Given the description of an element on the screen output the (x, y) to click on. 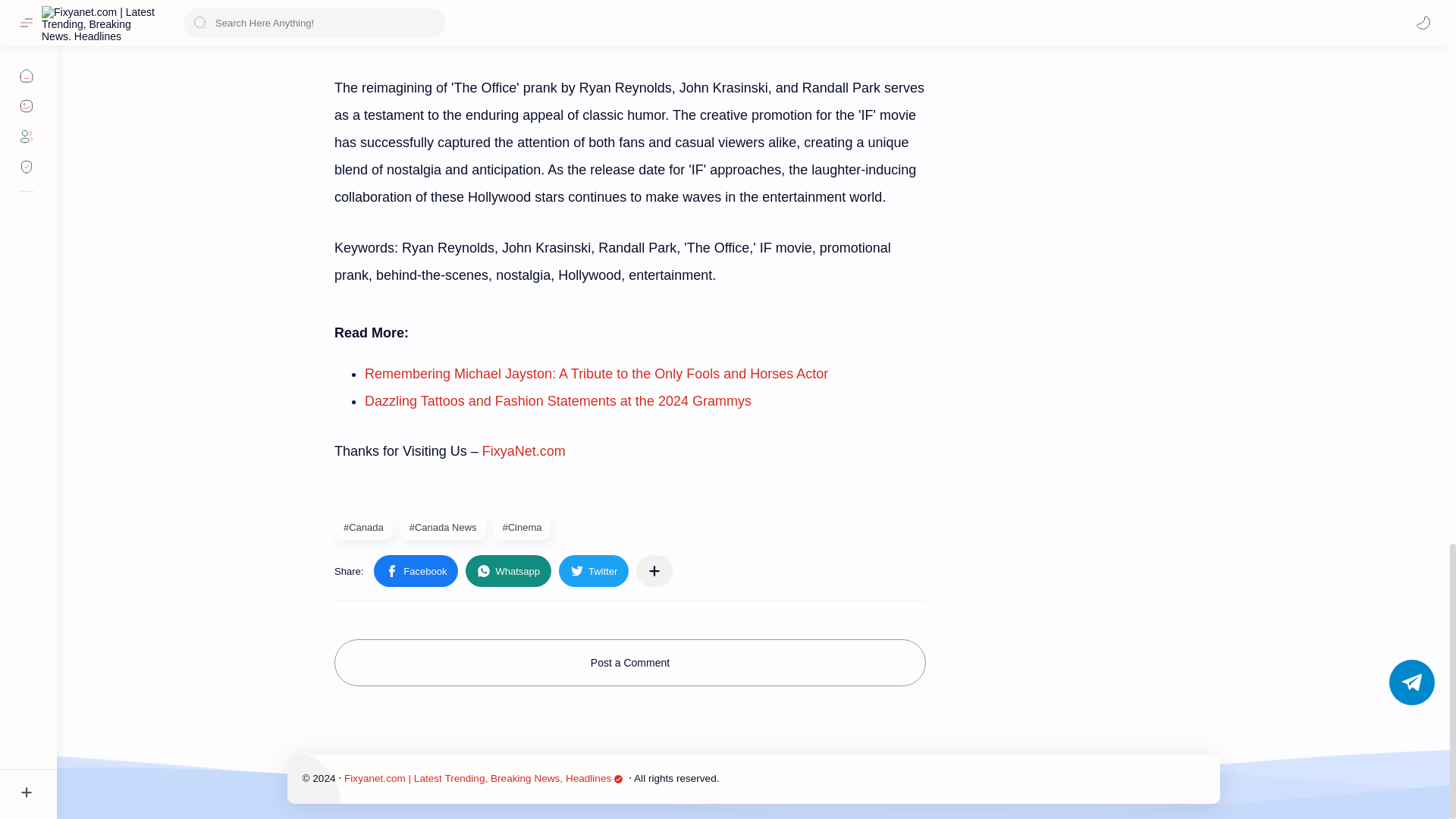
Dazzling Tattoos and Fashion Statements at the 2024 Grammys (558, 400)
FixyaNet.com (523, 450)
